Given the description of an element on the screen output the (x, y) to click on. 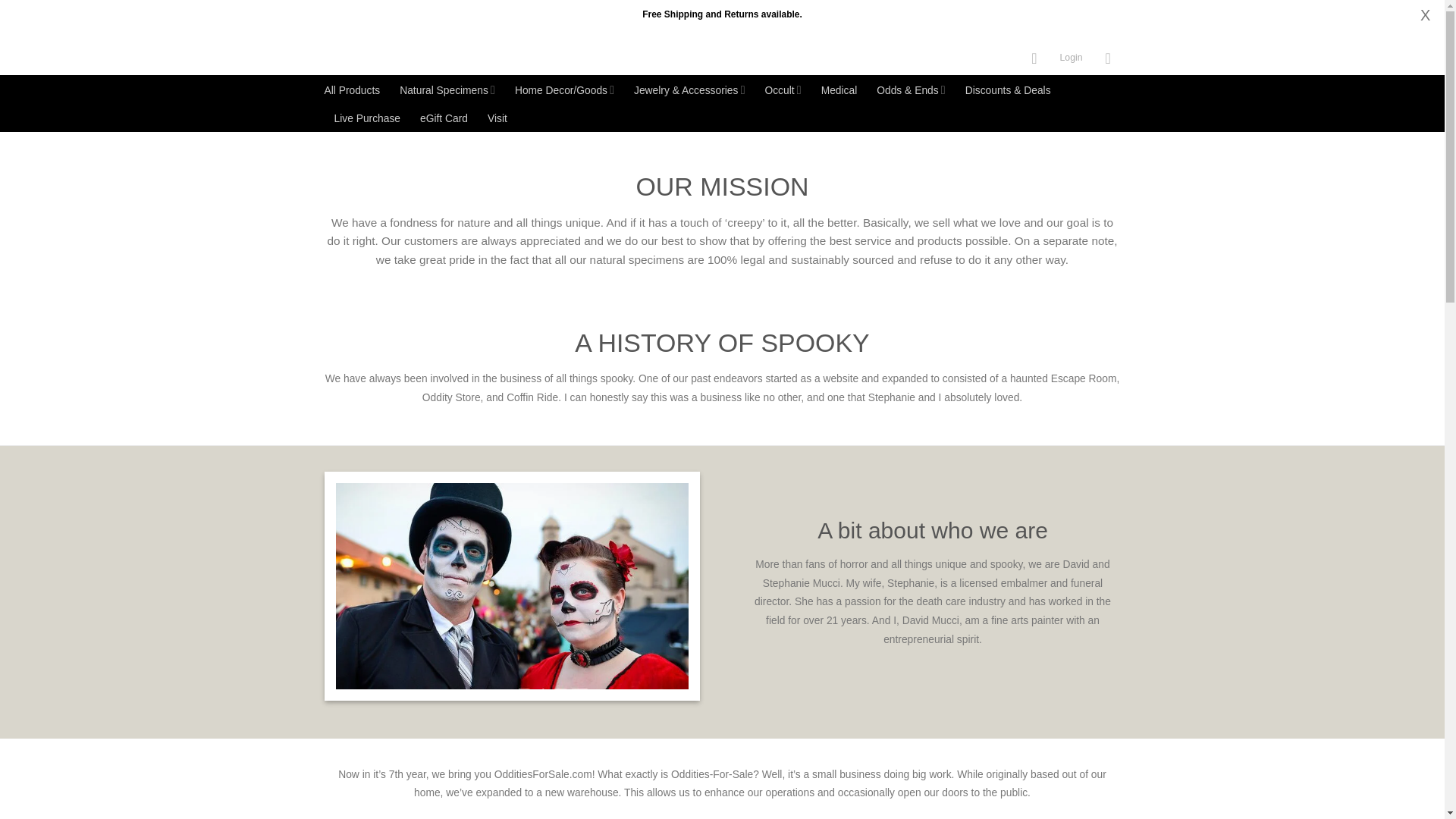
eGift Card (443, 117)
Natural Specimens (446, 89)
All Products (352, 90)
Live Purchase (366, 117)
Occult (782, 89)
Medical (839, 90)
